Given the description of an element on the screen output the (x, y) to click on. 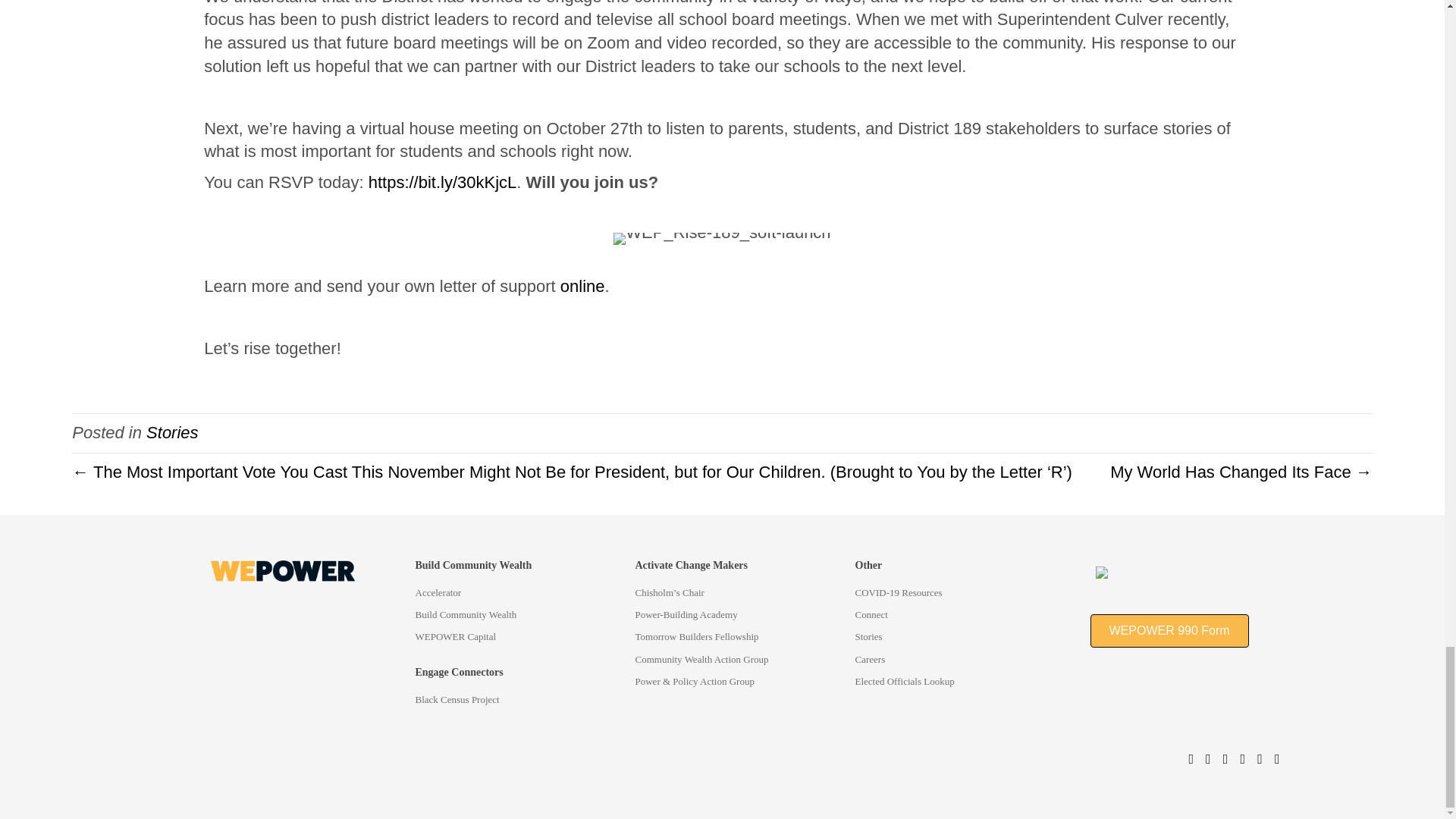
Stories (172, 432)
WEPOWER Capital (517, 640)
Build Community Wealth (517, 618)
Asset 5WP (283, 570)
Accelerator (517, 596)
online (582, 285)
Black Census Project (517, 703)
